Given the description of an element on the screen output the (x, y) to click on. 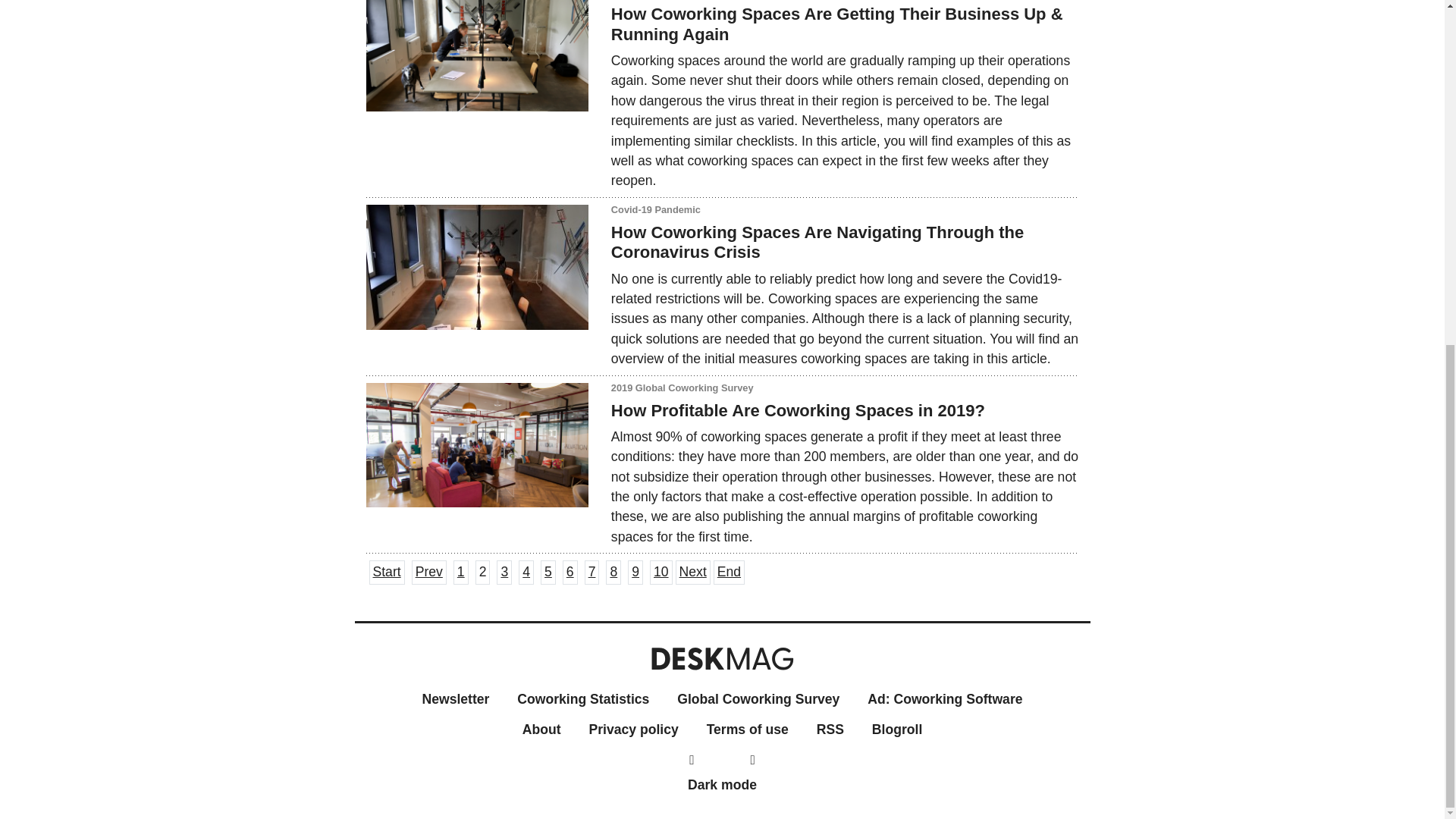
St. Oberholz: A coworking space in Berlin in May 2020. (476, 55)
